Given the description of an element on the screen output the (x, y) to click on. 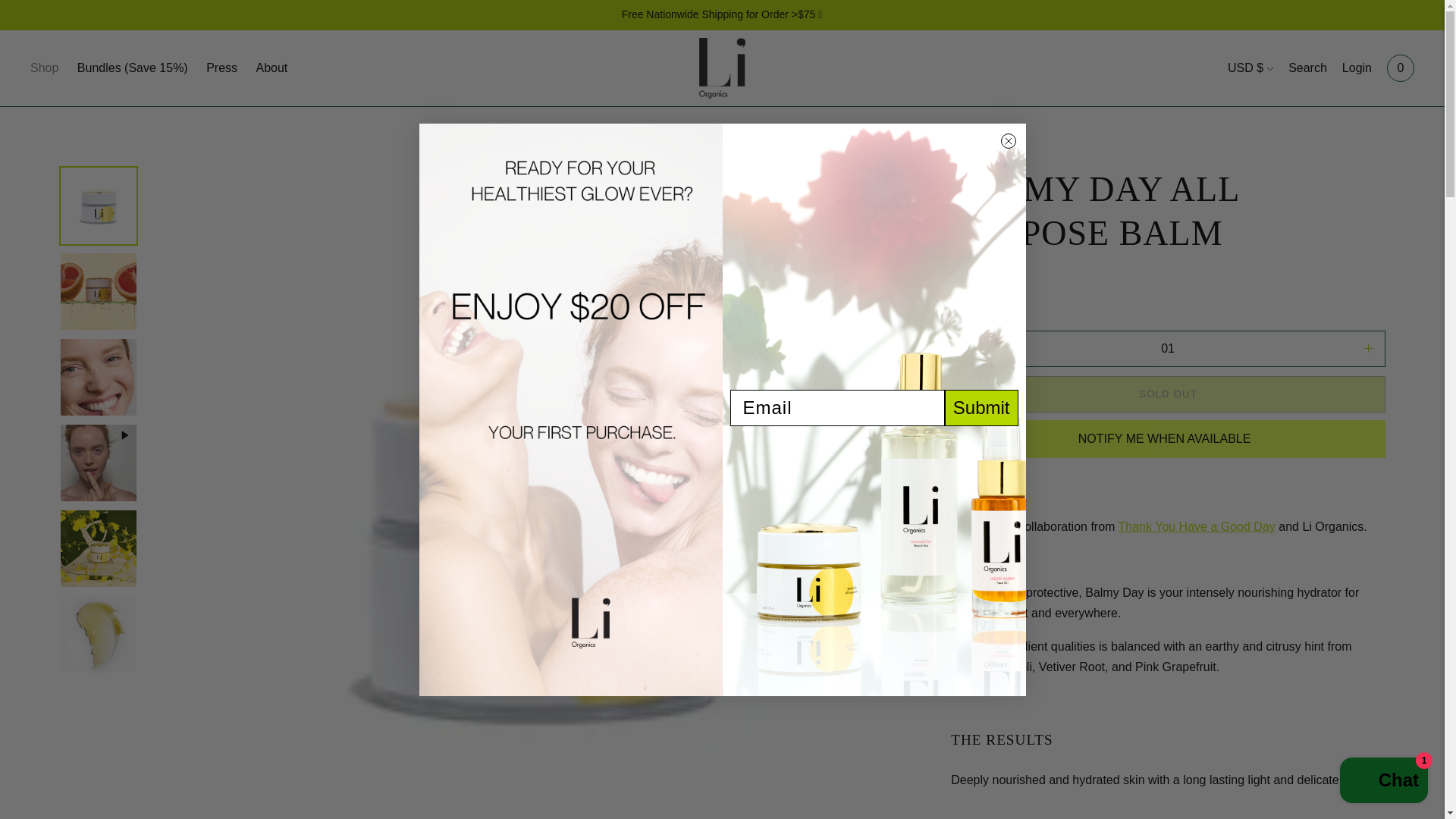
Press (221, 68)
About (272, 68)
Smile.io Rewards Program Launcher (37, 780)
Shopify online store chat (1383, 781)
01 (1167, 348)
